Given the description of an element on the screen output the (x, y) to click on. 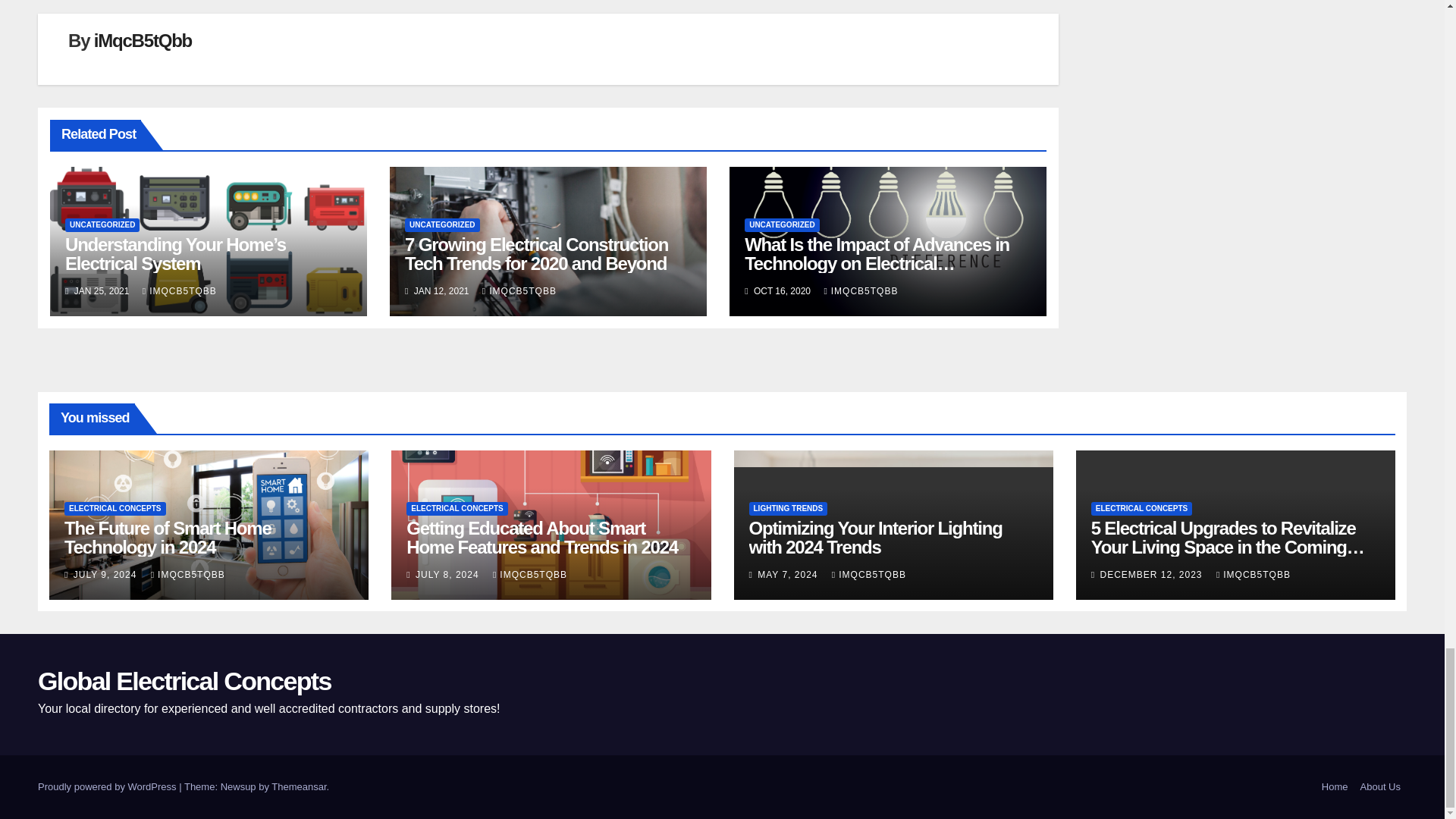
iMqcB5tQbb (143, 40)
Home (1335, 786)
Permalink to: The Future of Smart Home Technology in 2024 (167, 537)
UNCATEGORIZED (781, 224)
IMQCB5TQBB (518, 290)
IMQCB5TQBB (179, 290)
